Given the description of an element on the screen output the (x, y) to click on. 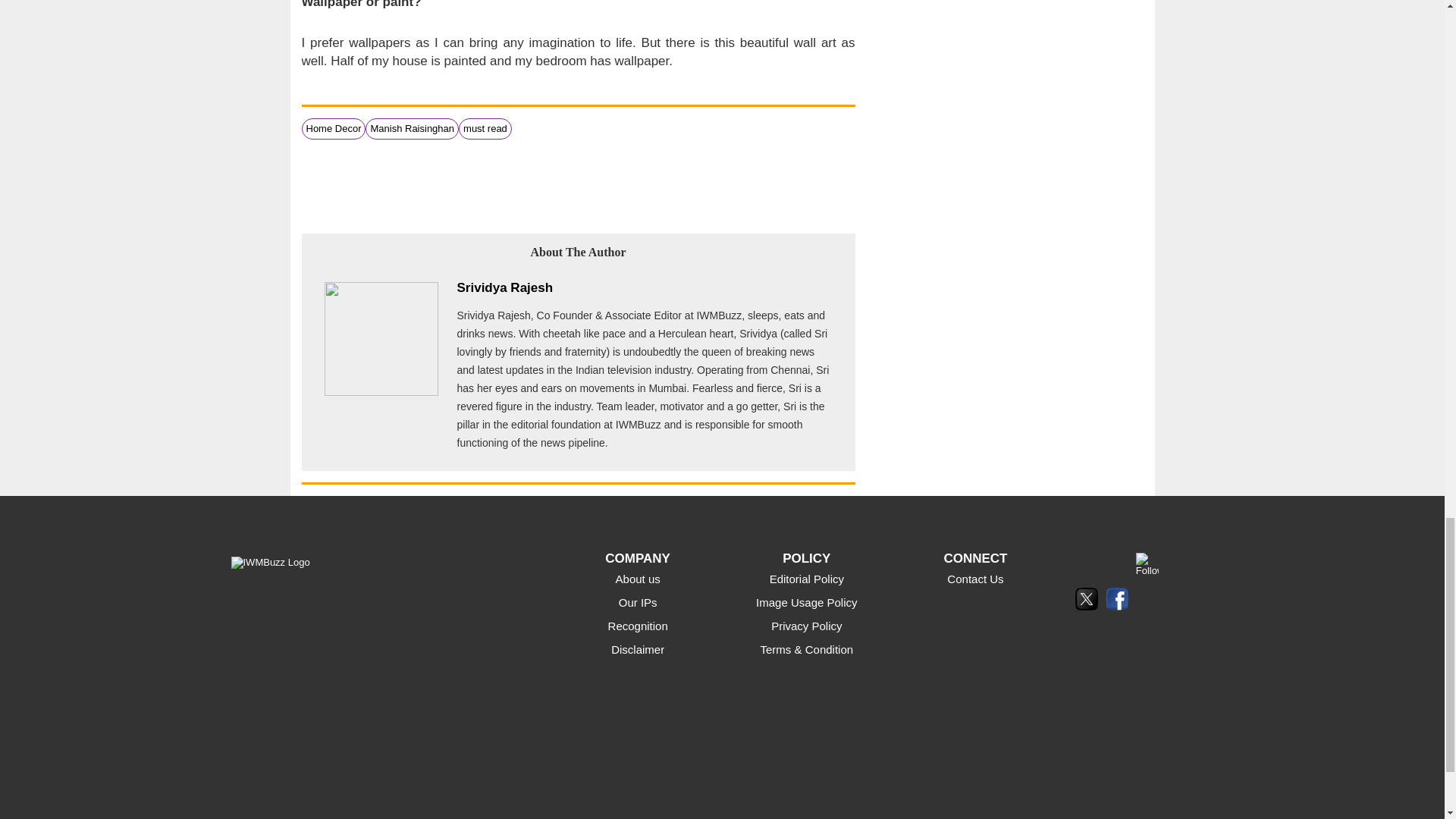
Manish Raisinghan (411, 128)
Home Decor (333, 128)
Srividya Rajesh (505, 287)
must read (484, 128)
